Given the description of an element on the screen output the (x, y) to click on. 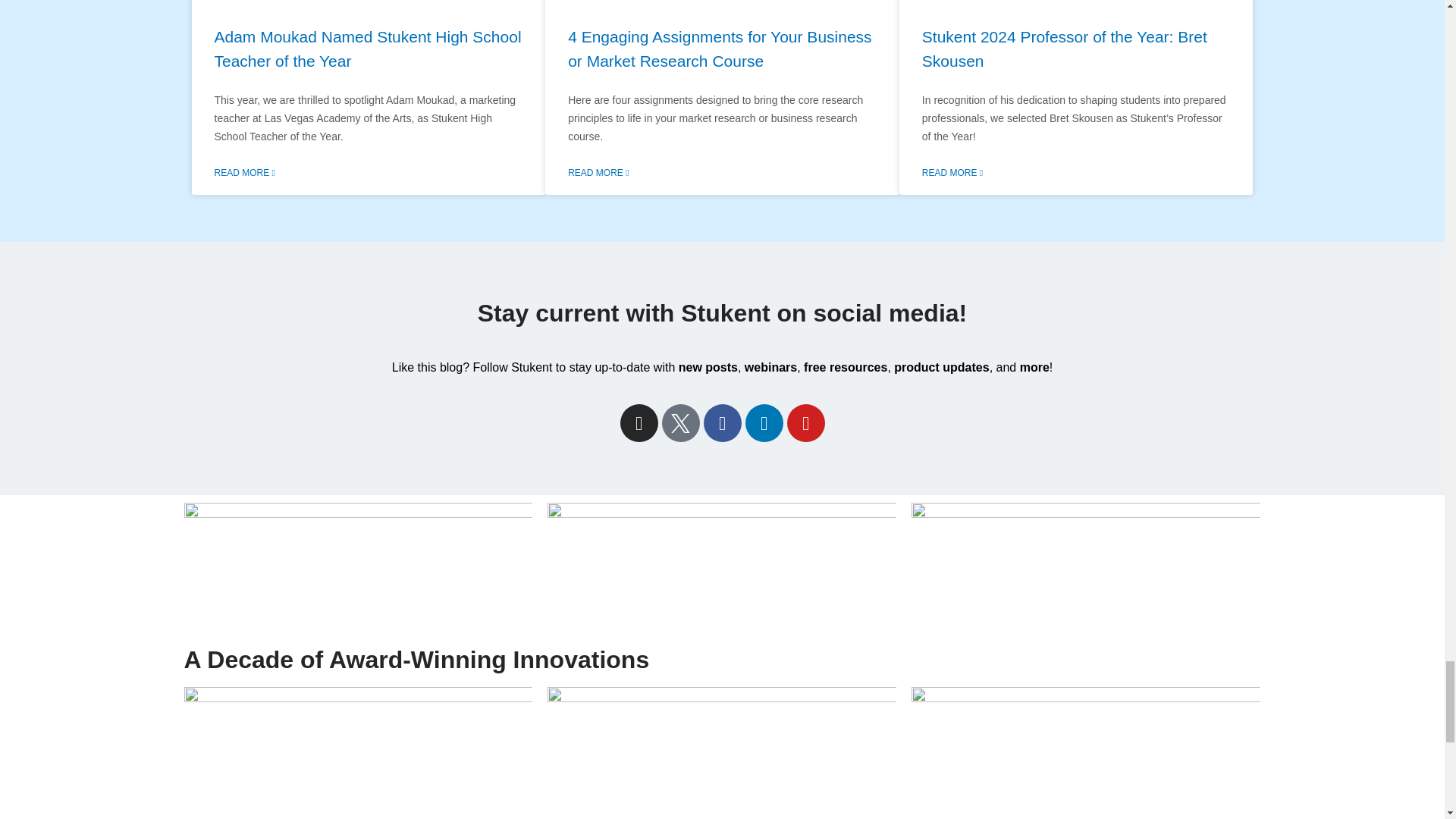
READ MORE (244, 172)
Adam Moukad Named Stukent High School Teacher of the Year (367, 48)
Stukent 2024 Professor of the Year: Bret Skousen (1064, 48)
READ MORE (597, 172)
READ MORE (951, 172)
